Given the description of an element on the screen output the (x, y) to click on. 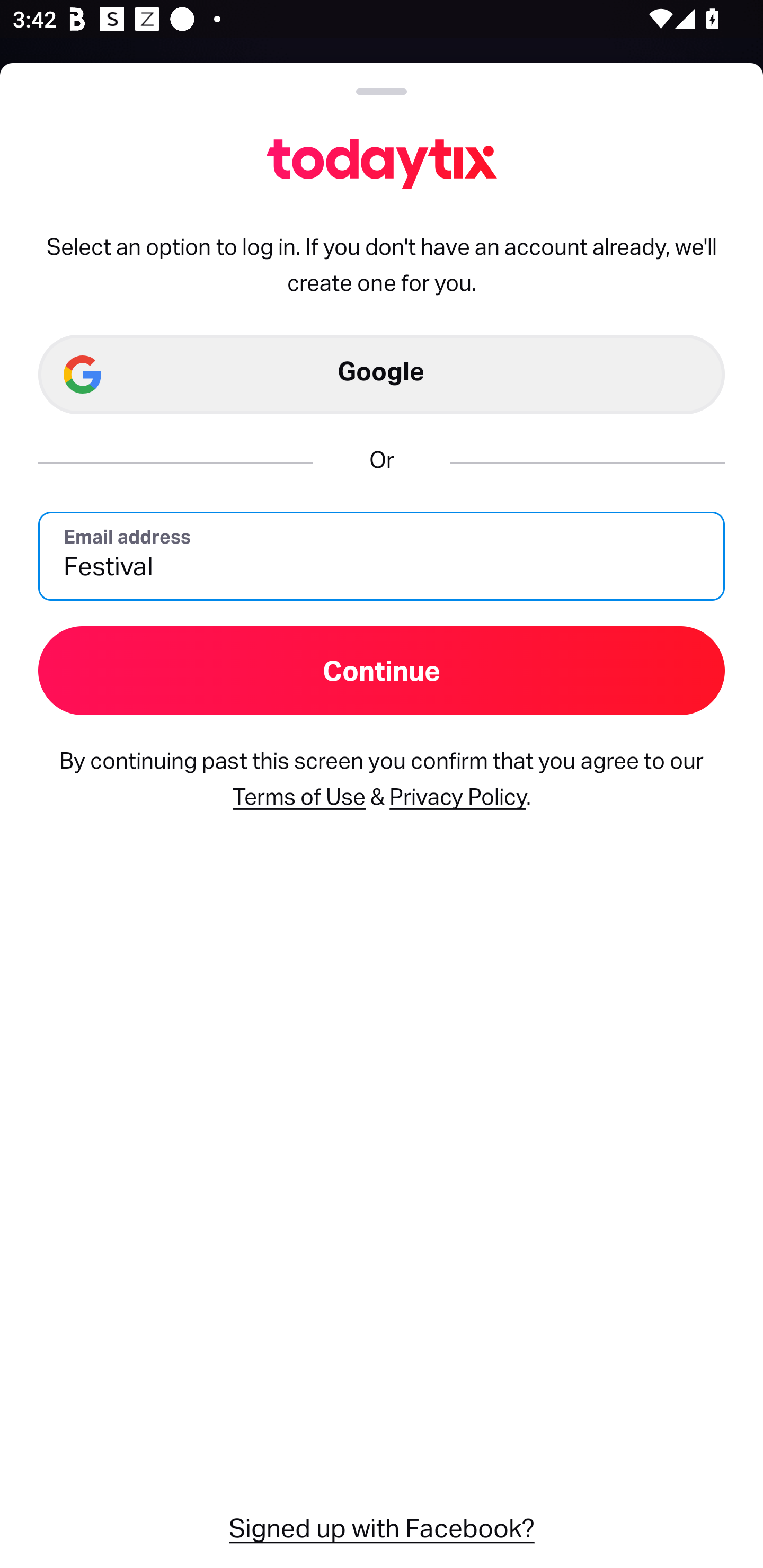
Google (381, 374)
Festival Email address (381, 555)
Continue (381, 670)
Signed up with Facebook? (381, 1526)
